Given the description of an element on the screen output the (x, y) to click on. 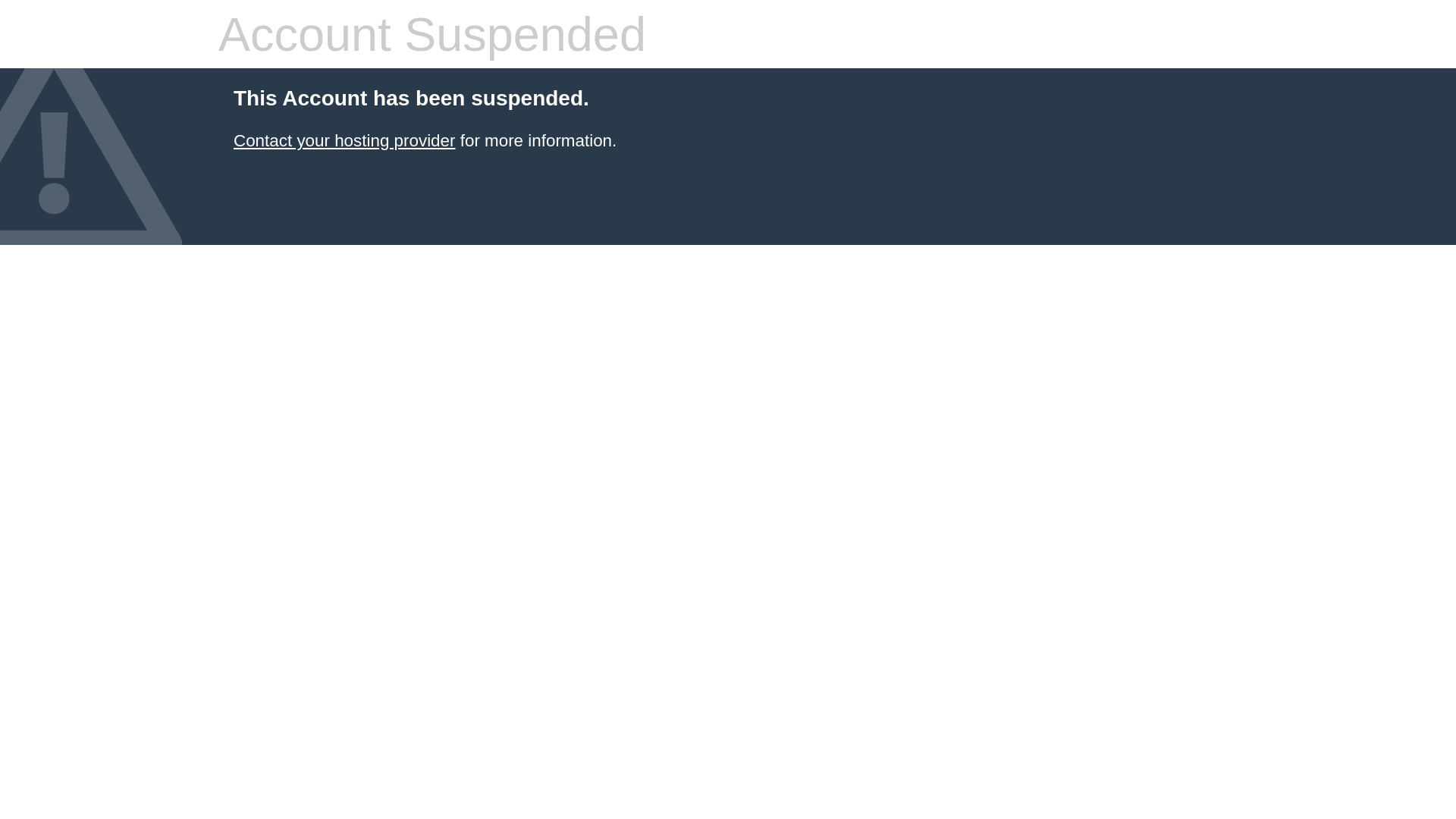
Contact your hosting provider Element type: text (344, 140)
